Given the description of an element on the screen output the (x, y) to click on. 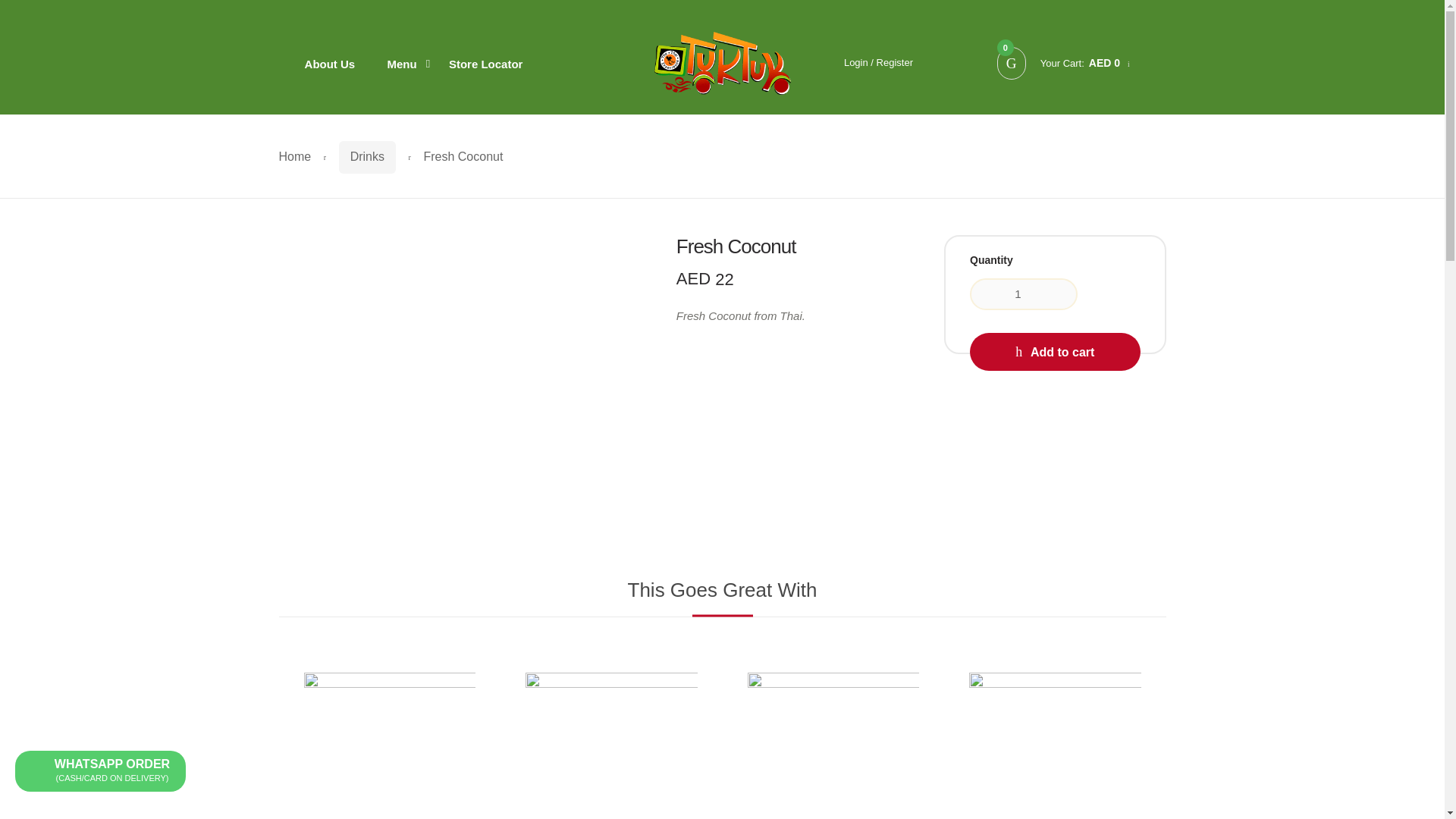
Qty (1023, 294)
About Us (329, 62)
Home (295, 156)
Store Locator (485, 62)
Add to cart (1054, 351)
1 (1023, 294)
View your shopping cart (1063, 62)
Menu (401, 62)
Skip to navigation (1063, 62)
